Given the description of an element on the screen output the (x, y) to click on. 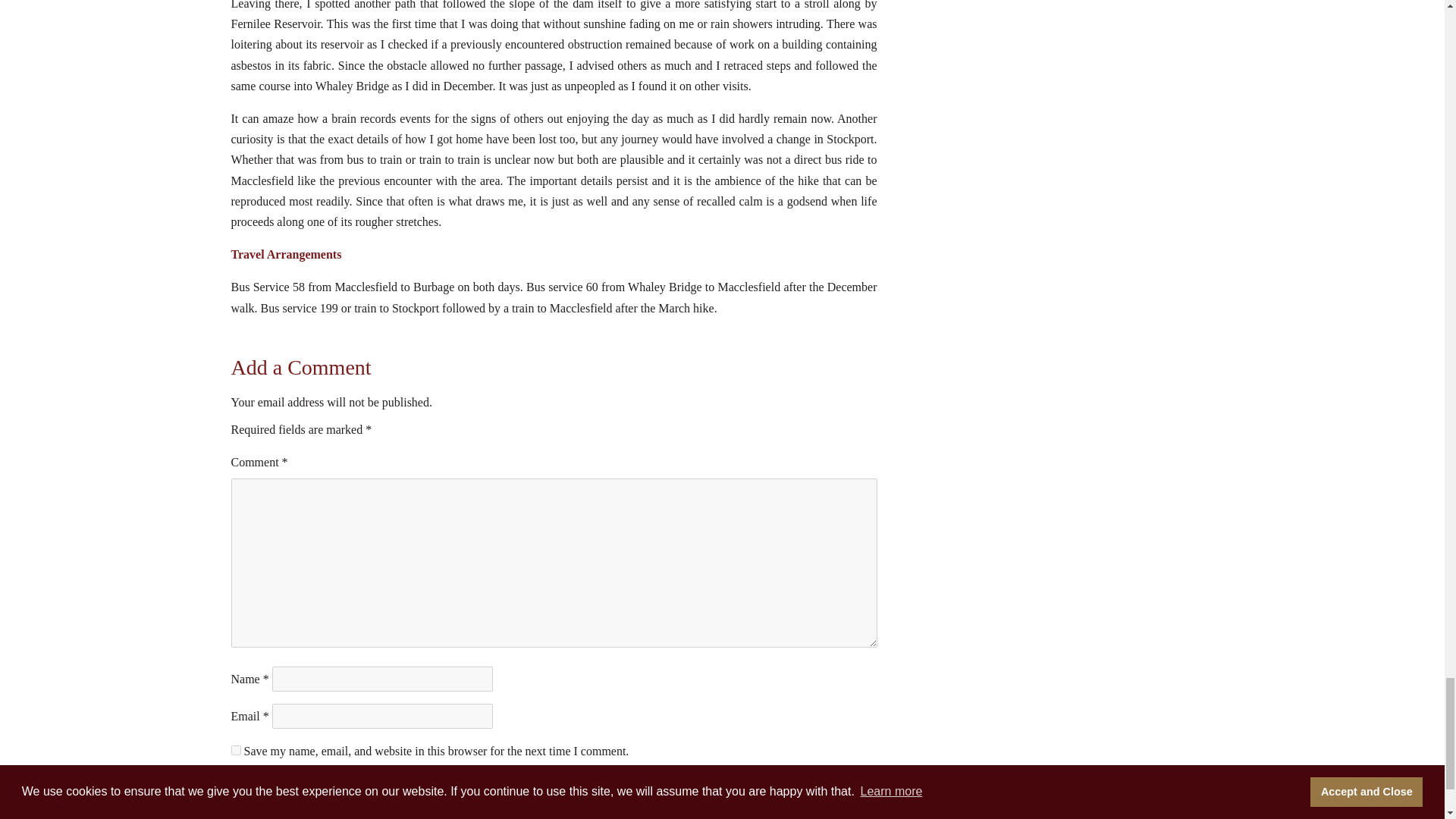
yes (235, 750)
Post Comment (553, 789)
Post Comment (553, 789)
